Given the description of an element on the screen output the (x, y) to click on. 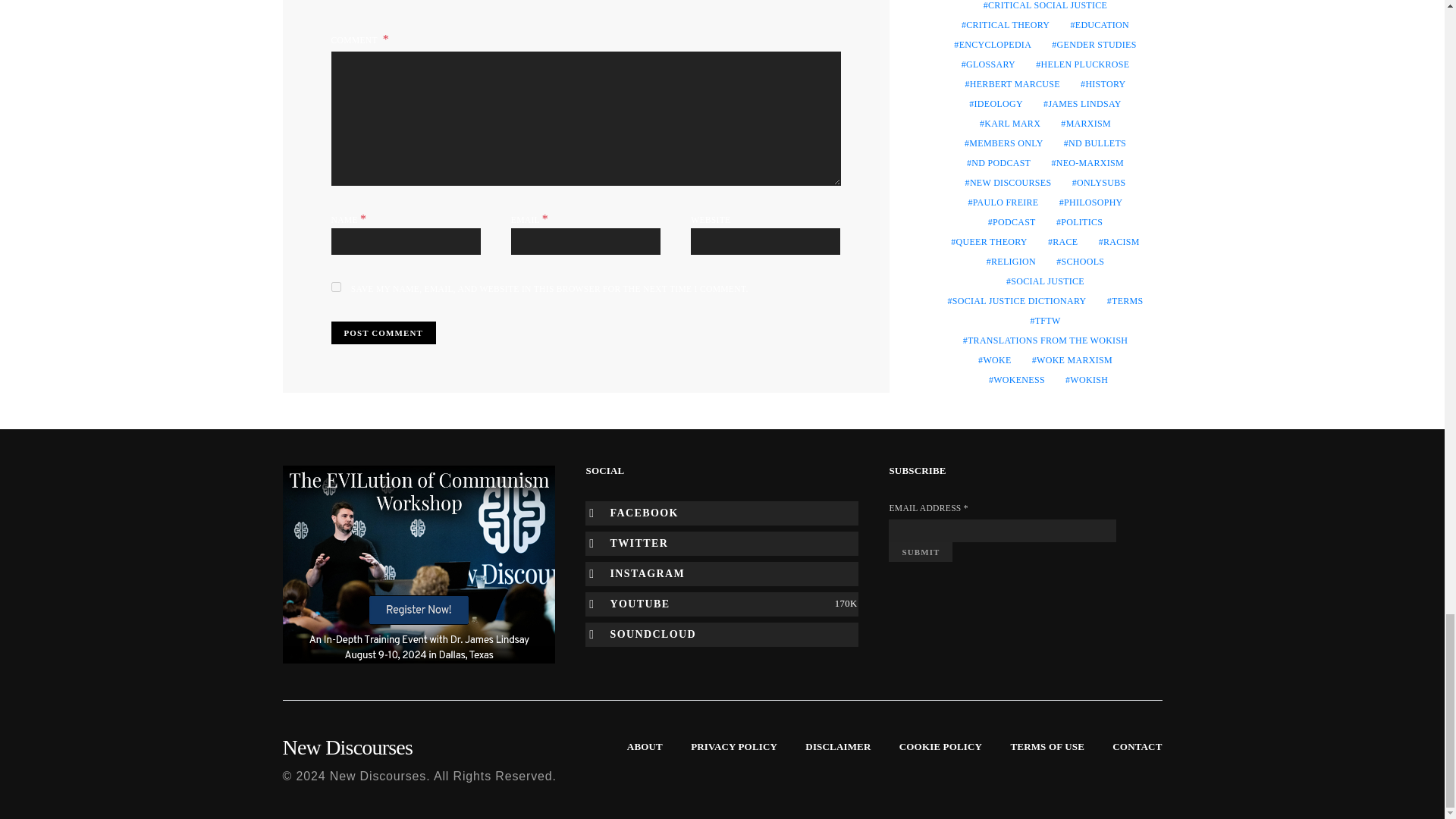
yes (335, 286)
Submit (920, 551)
Post Comment (382, 332)
